Given the description of an element on the screen output the (x, y) to click on. 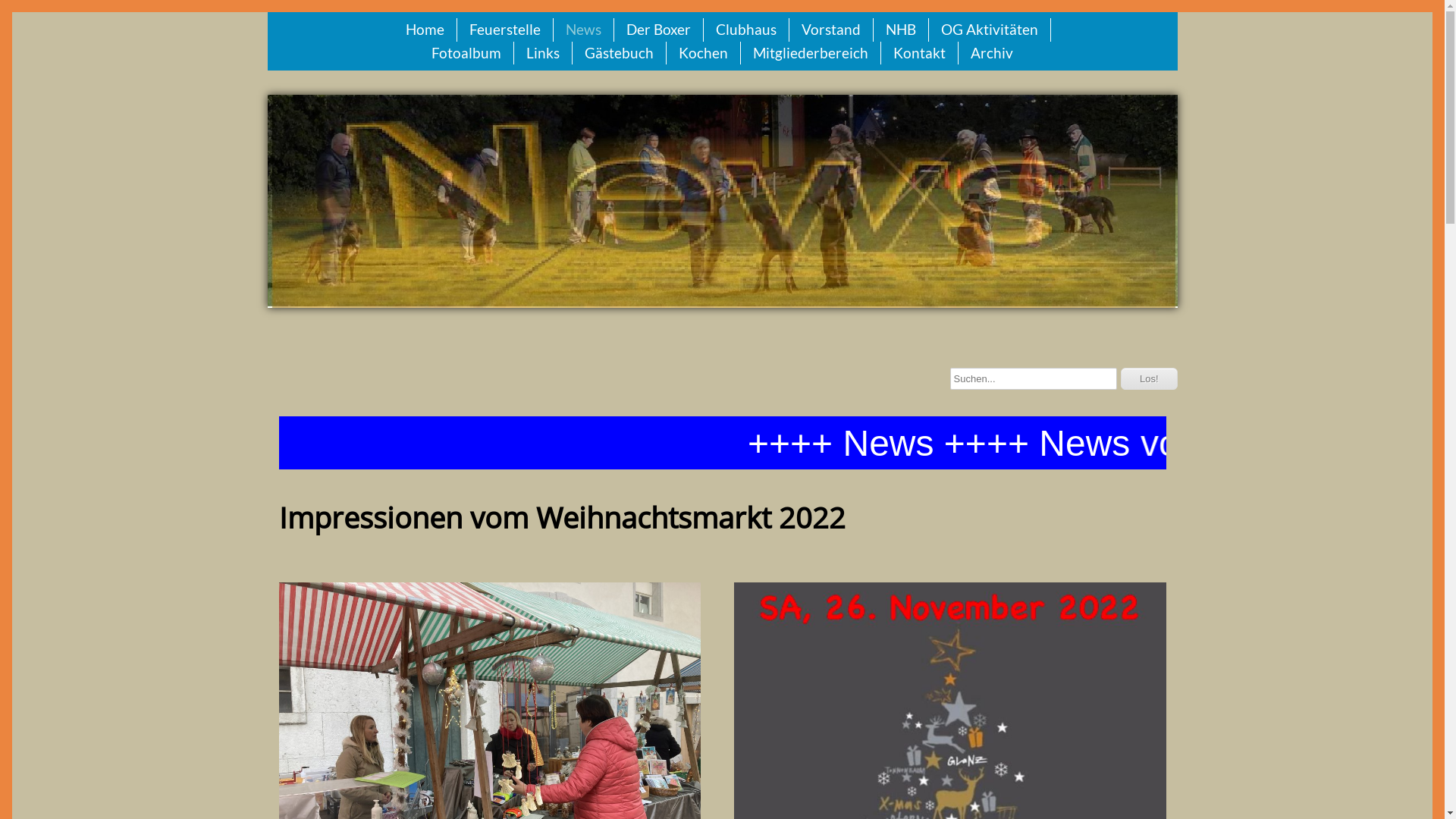
Clubhaus Element type: text (745, 29)
Home Element type: text (424, 29)
Archiv Element type: text (991, 53)
Der Boxer Element type: text (658, 29)
Kontakt Element type: text (919, 53)
Los! Element type: text (1148, 378)
Fotoalbum Element type: text (466, 53)
News Element type: text (583, 29)
Mitgliederbereich Element type: text (810, 53)
Feuerstelle Element type: text (504, 29)
Kochen Element type: text (703, 53)
Links Element type: text (542, 53)
NHB Element type: text (900, 29)
Vorstand Element type: text (830, 29)
